Given the description of an element on the screen output the (x, y) to click on. 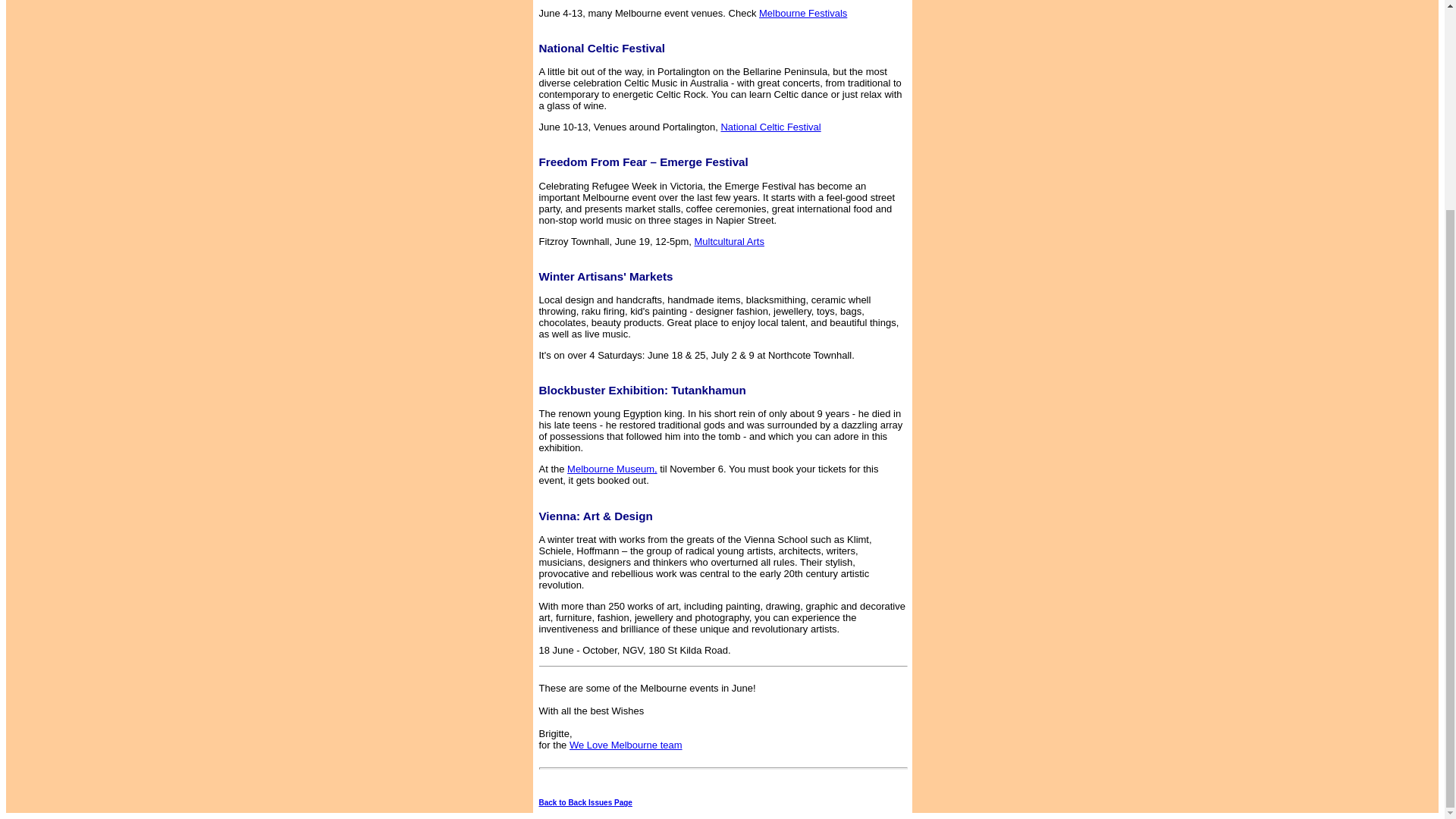
Melbourne Festivals (912, 18)
Back to Back Issues Page (584, 802)
We Love Melbourne team (641, 750)
Melbourne Museum, (612, 469)
National Celtic Festival (861, 132)
Multcultural Arts (806, 246)
